Given the description of an element on the screen output the (x, y) to click on. 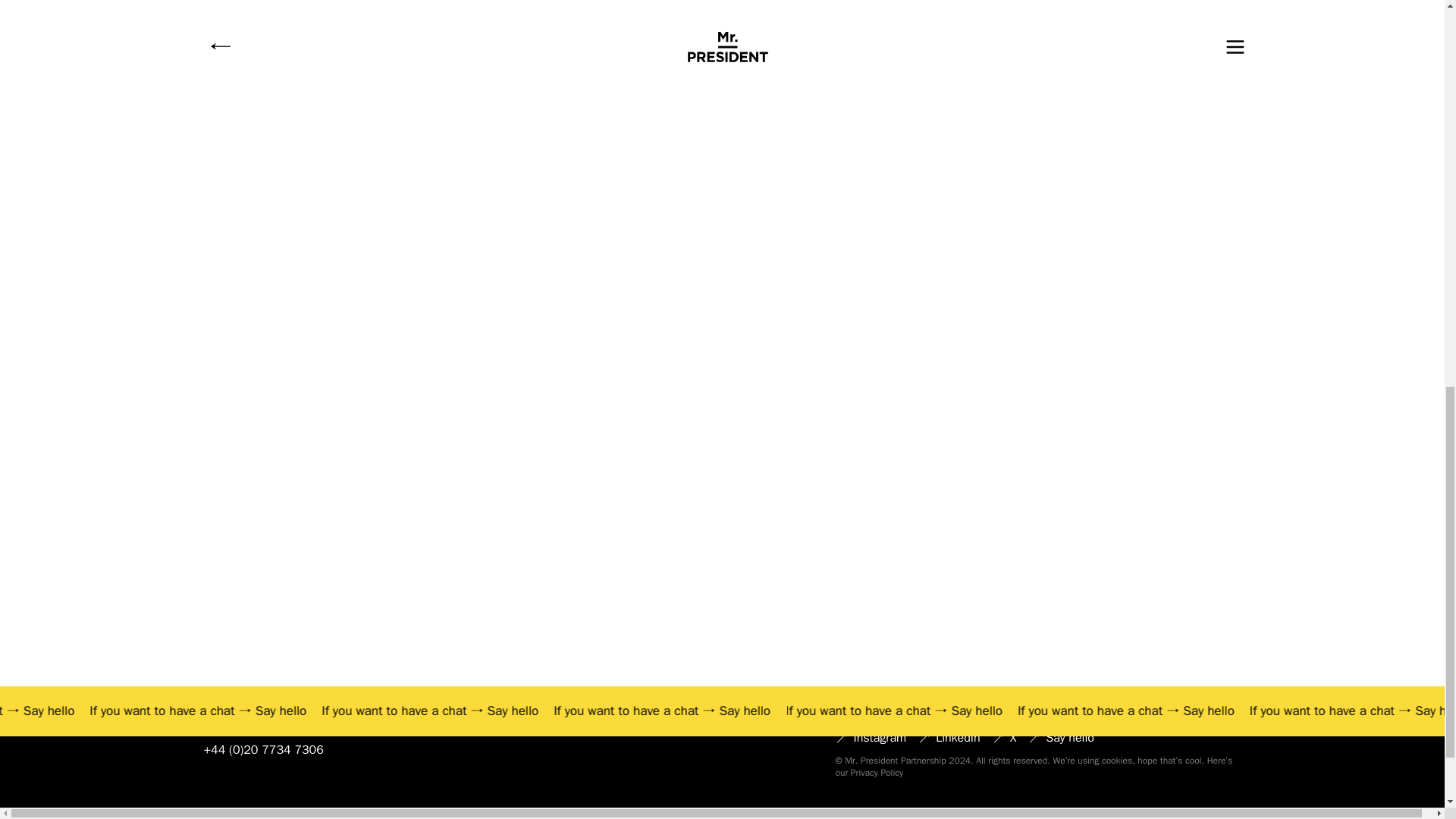
Say hello (1093, 710)
Say hello (866, 710)
Say hello (1323, 710)
Say hello (637, 710)
Say hello (409, 710)
Say hello (179, 710)
